Given the description of an element on the screen output the (x, y) to click on. 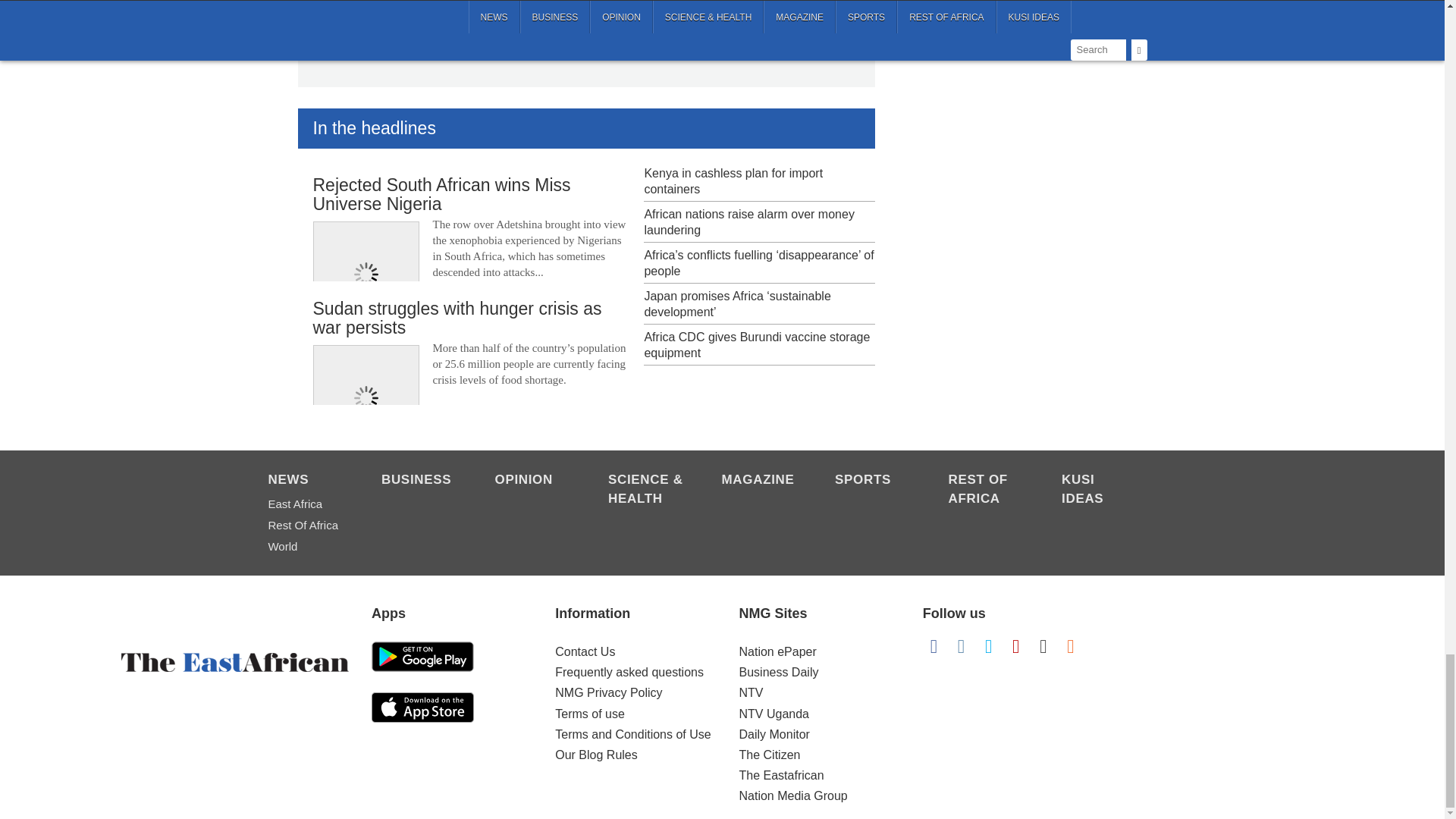
World (306, 546)
Rest of Africa (306, 525)
Business (419, 480)
East Africa (306, 504)
Opinion (533, 480)
News (306, 480)
Sports (873, 480)
Magazine (760, 480)
Rest of Africa (987, 490)
KUSI IDEAS (1099, 490)
